Given the description of an element on the screen output the (x, y) to click on. 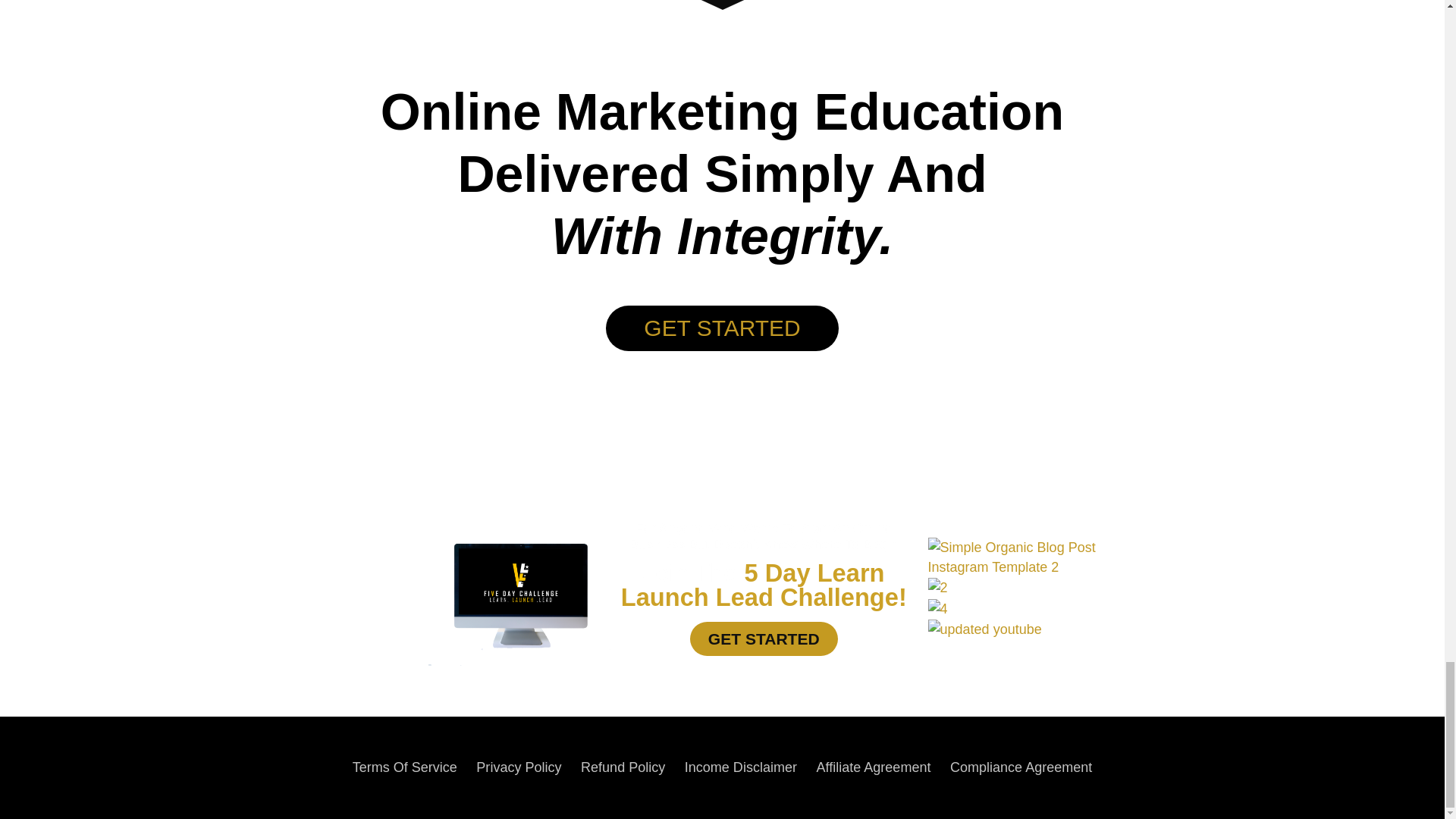
2 (937, 587)
Simple Organic Blog Post Instagram Template 2 (1043, 557)
4 (937, 608)
updated youtube (985, 629)
